Given the description of an element on the screen output the (x, y) to click on. 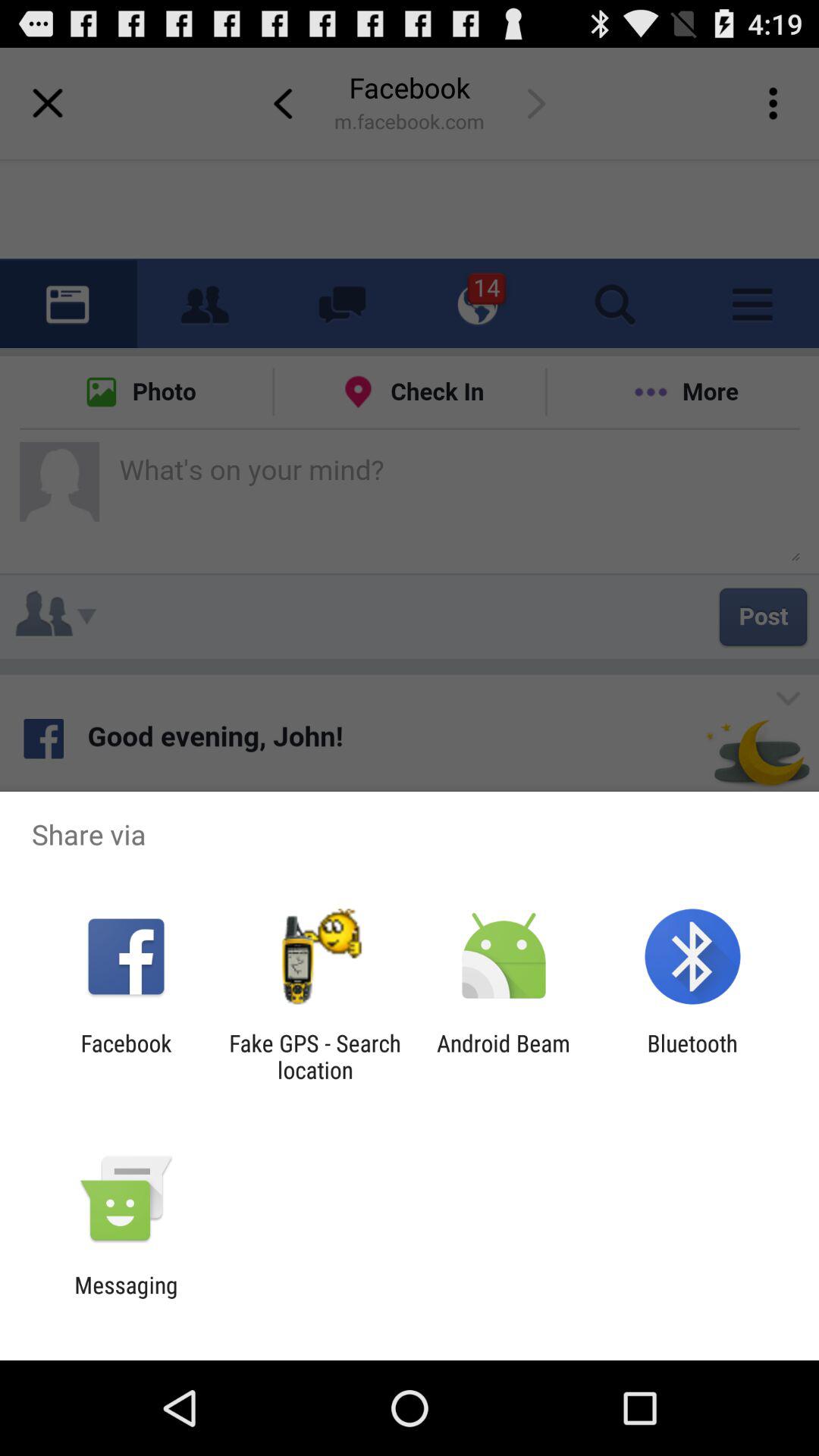
tap the app to the left of android beam (314, 1056)
